Given the description of an element on the screen output the (x, y) to click on. 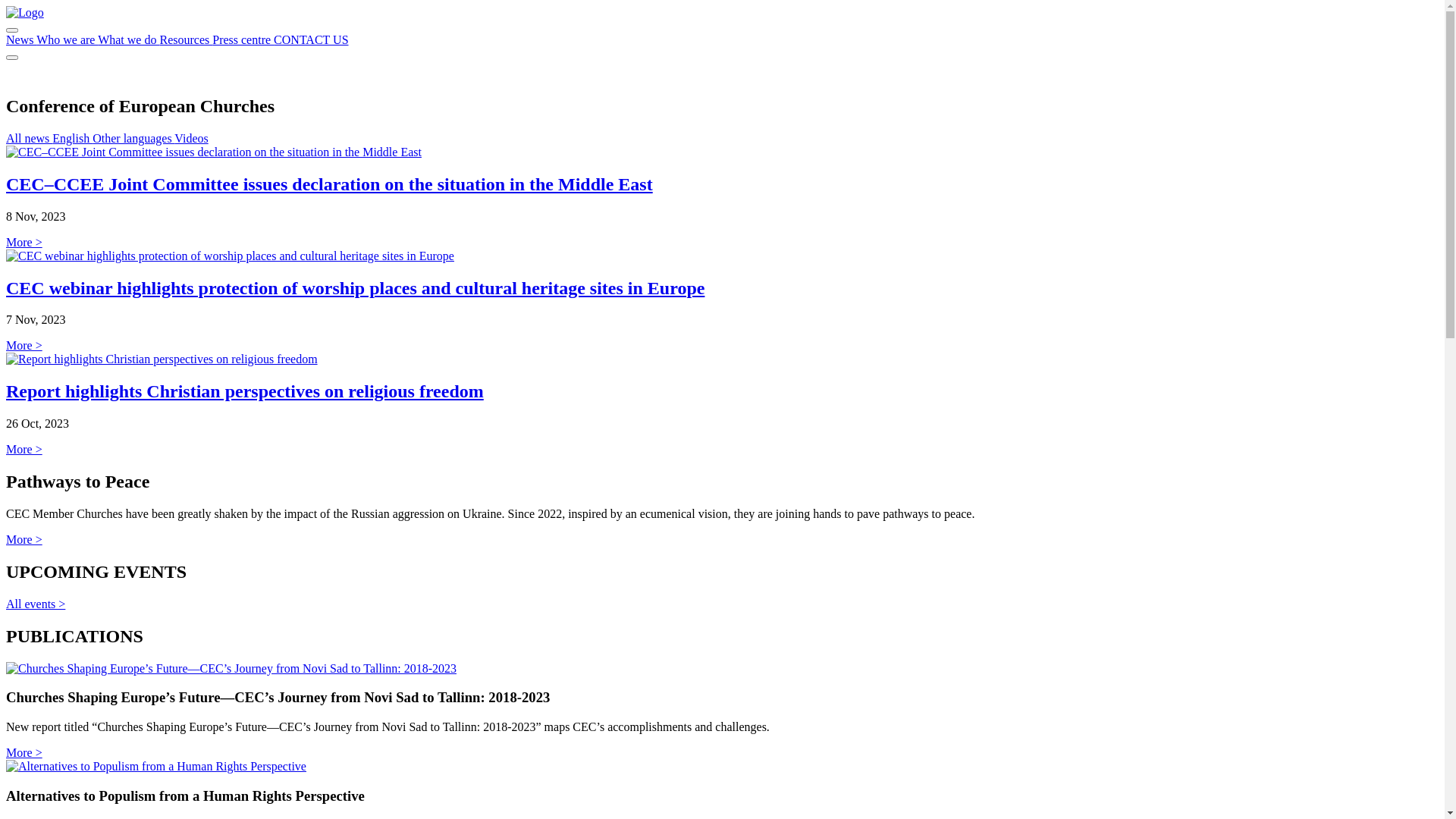
What we do Element type: text (128, 39)
News Element type: text (21, 39)
CONTACT US Element type: text (310, 39)
More > Element type: text (24, 539)
More > Element type: text (24, 752)
All news Element type: text (29, 137)
All events > Element type: text (35, 603)
Press centre Element type: text (242, 39)
More > Element type: text (24, 448)
Other languages Element type: text (133, 137)
English Element type: text (72, 137)
Who we are Element type: text (66, 39)
Resources Element type: text (185, 39)
More > Element type: text (24, 241)
More > Element type: text (24, 344)
Videos Element type: text (190, 137)
